Given the description of an element on the screen output the (x, y) to click on. 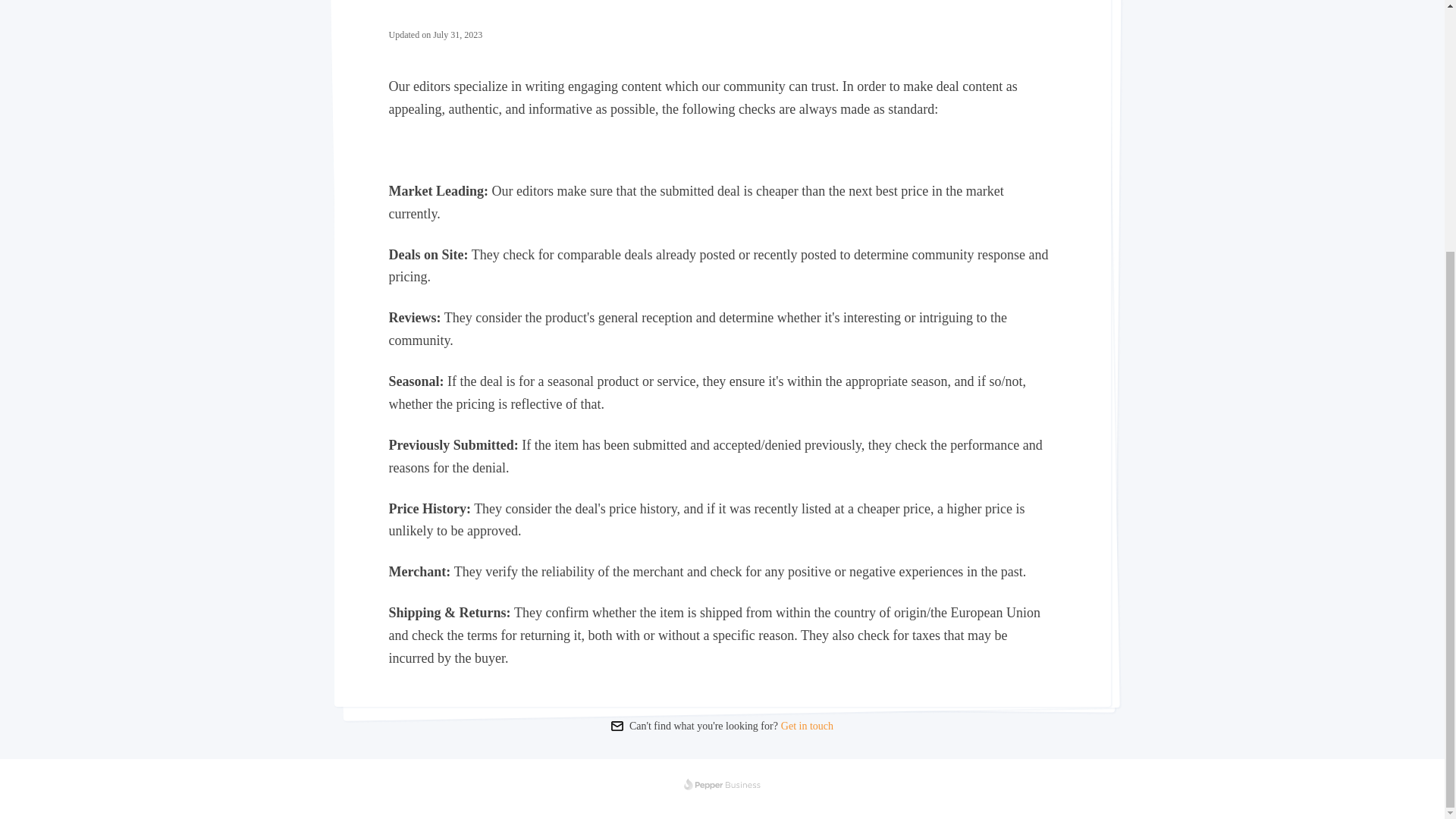
Get in touch (804, 726)
